Given the description of an element on the screen output the (x, y) to click on. 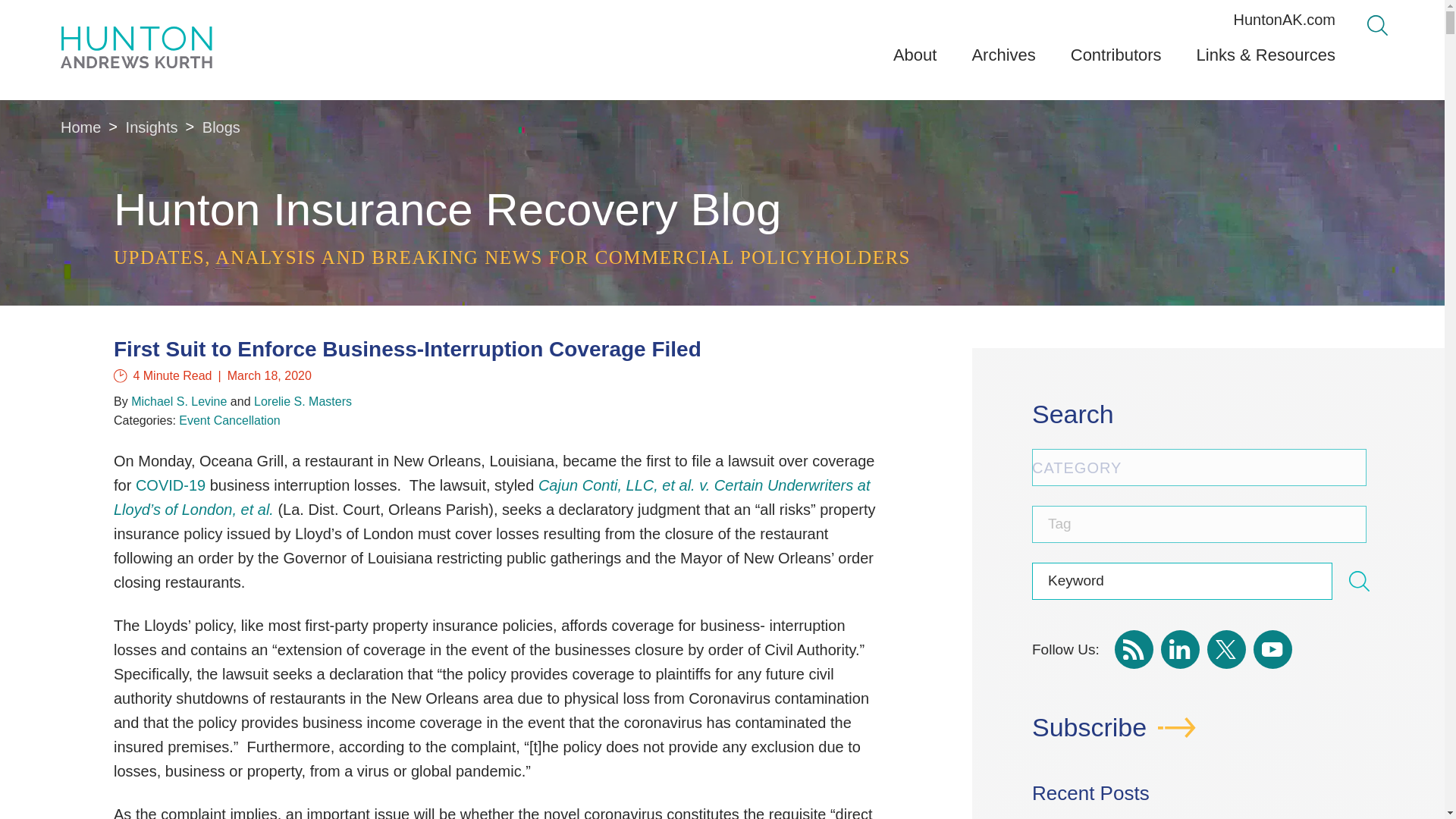
Lorelie S. Masters (302, 400)
Blogs (221, 126)
COVID-19 (170, 484)
Youtube (1272, 649)
Hunton Insurance Recovery Blog (447, 209)
Menu (680, 17)
About (915, 60)
Search (1377, 25)
HuntonAK.com (1284, 19)
Michael S. Levine (179, 400)
